Given the description of an element on the screen output the (x, y) to click on. 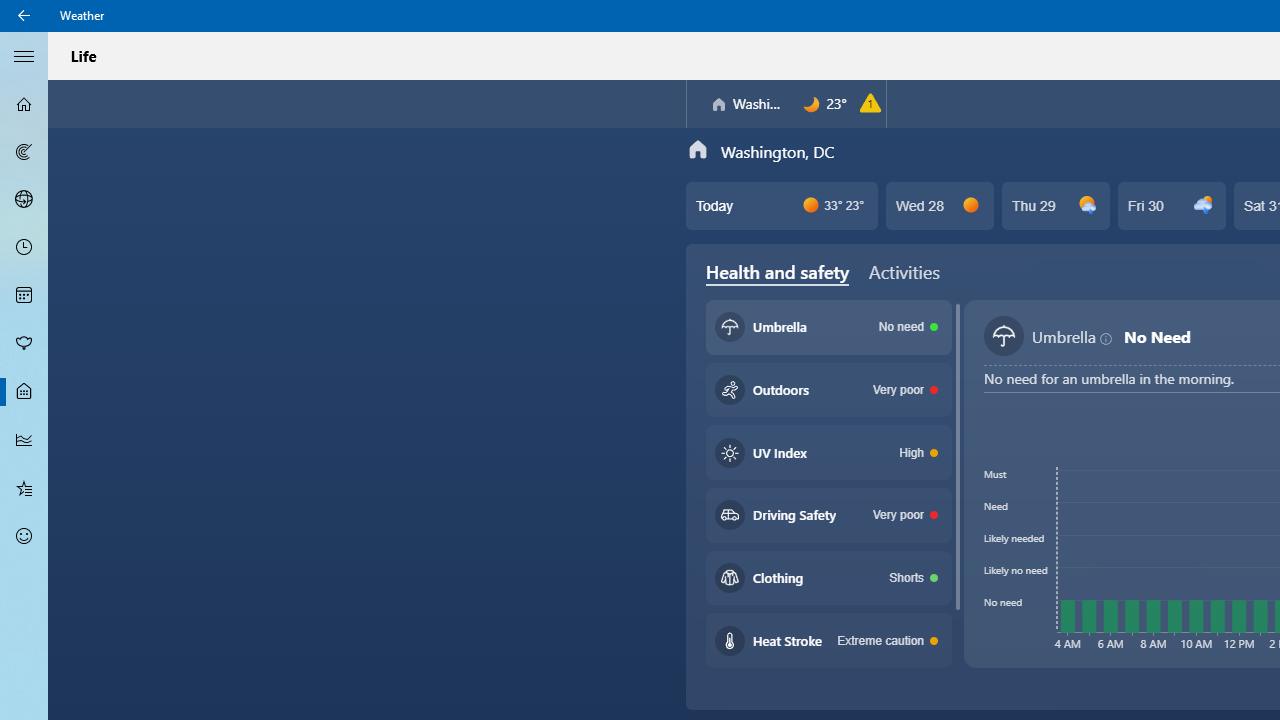
Favorites - Not Selected (24, 487)
Maps - Not Selected (24, 151)
Maps - Not Selected (24, 151)
Historical Weather - Not Selected (24, 439)
Monthly Forecast - Not Selected (24, 295)
Hourly Forecast - Not Selected (24, 247)
